Given the description of an element on the screen output the (x, y) to click on. 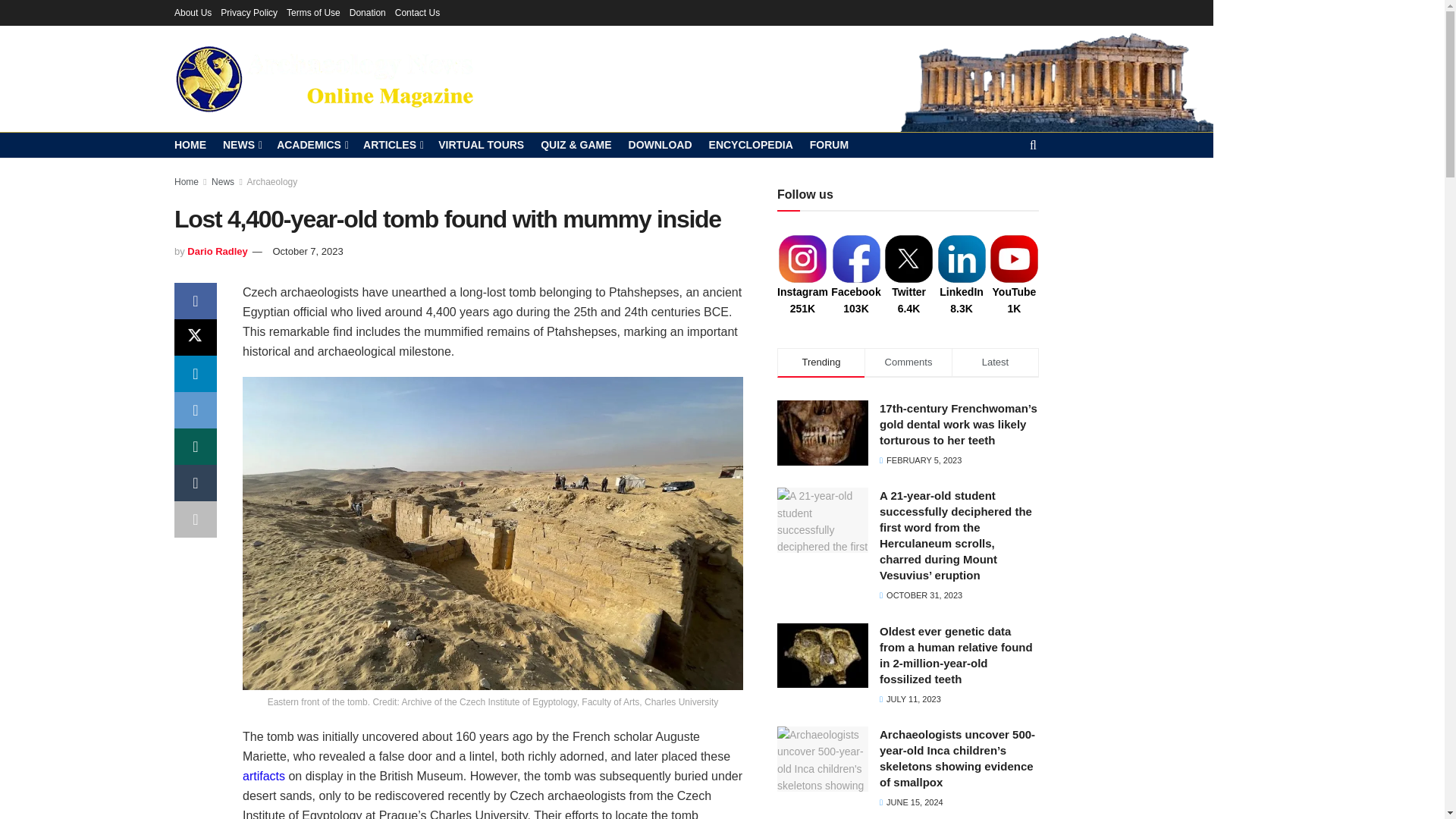
VIRTUAL TOURS (481, 145)
Donation (367, 12)
ARTICLES (392, 145)
FORUM (828, 145)
About Us (192, 12)
HOME (190, 145)
Privacy Policy (249, 12)
ENCYCLOPEDIA (751, 145)
Terms of Use (313, 12)
ACADEMICS (311, 145)
NEWS (241, 145)
Contact Us (416, 12)
DOWNLOAD (660, 145)
